Given the description of an element on the screen output the (x, y) to click on. 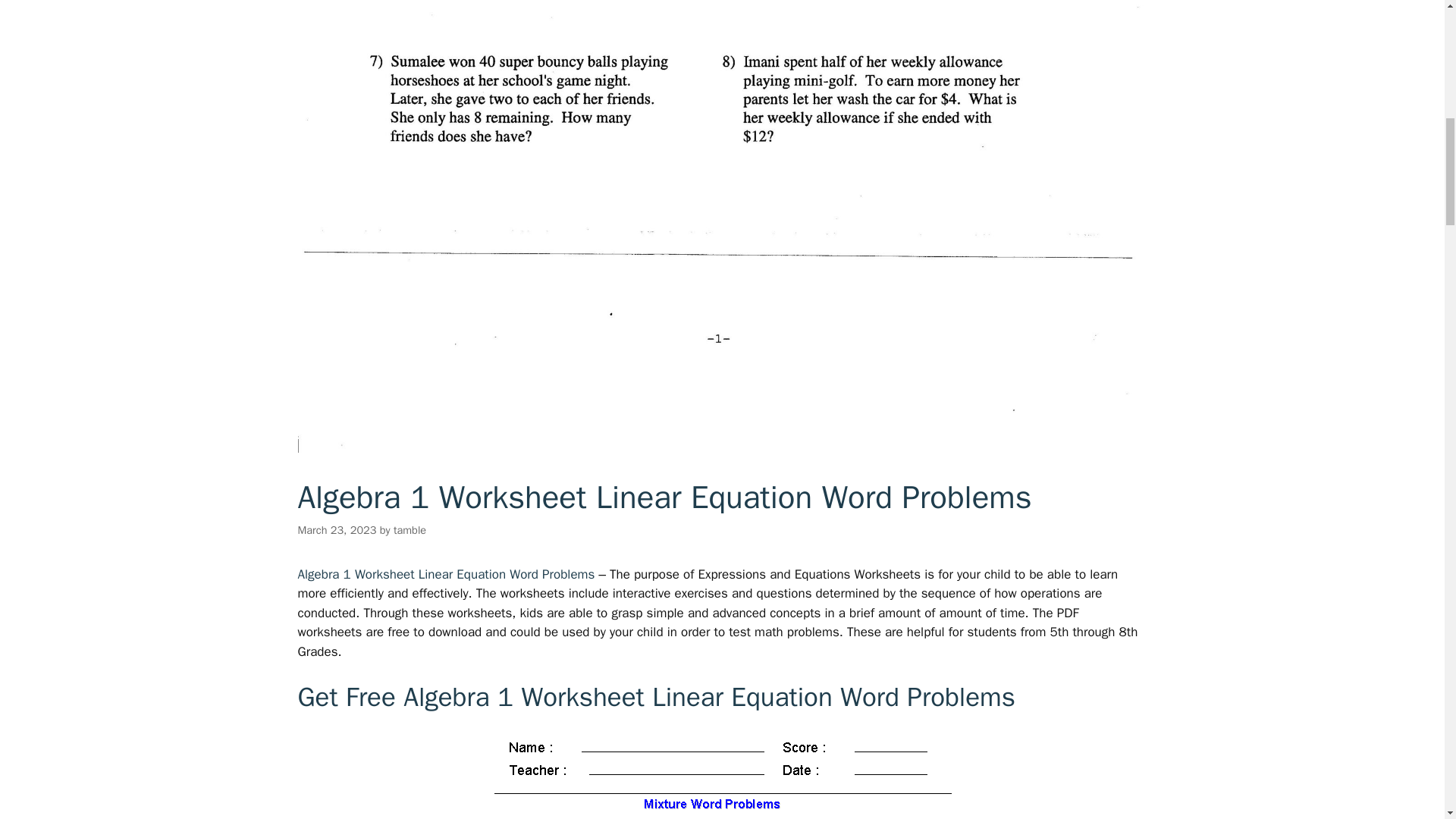
Algebra 1 Worksheet Linear Equation Word Problems (447, 574)
tamble (409, 530)
View all posts by tamble (409, 530)
